Given the description of an element on the screen output the (x, y) to click on. 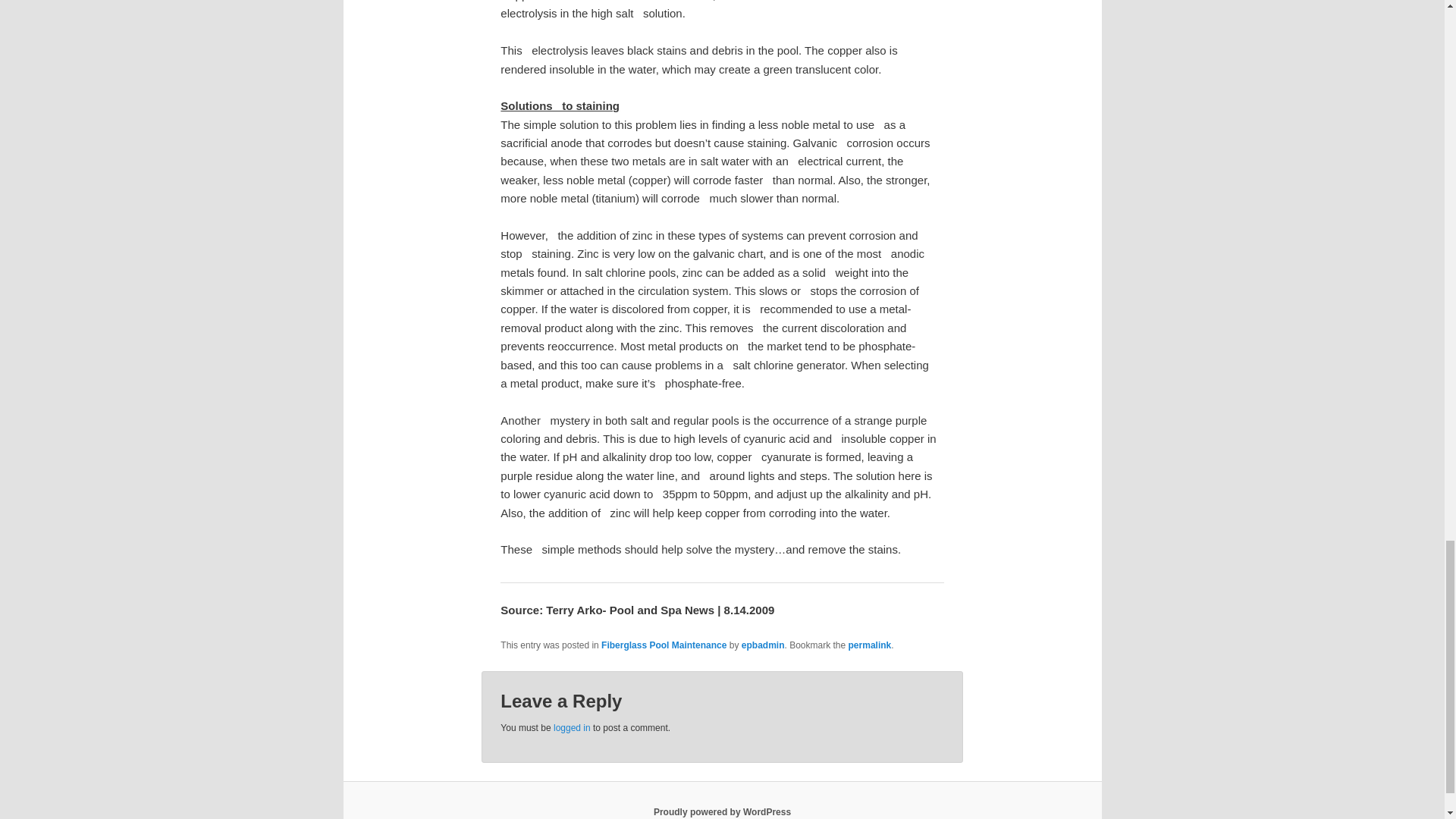
Semantic Personal Publishing Platform (721, 811)
permalink (869, 644)
logged in (572, 727)
Permalink to Solving Stains (869, 644)
epbadmin (762, 644)
Proudly powered by WordPress (721, 811)
Fiberglass Pool Maintenance (663, 644)
